Given the description of an element on the screen output the (x, y) to click on. 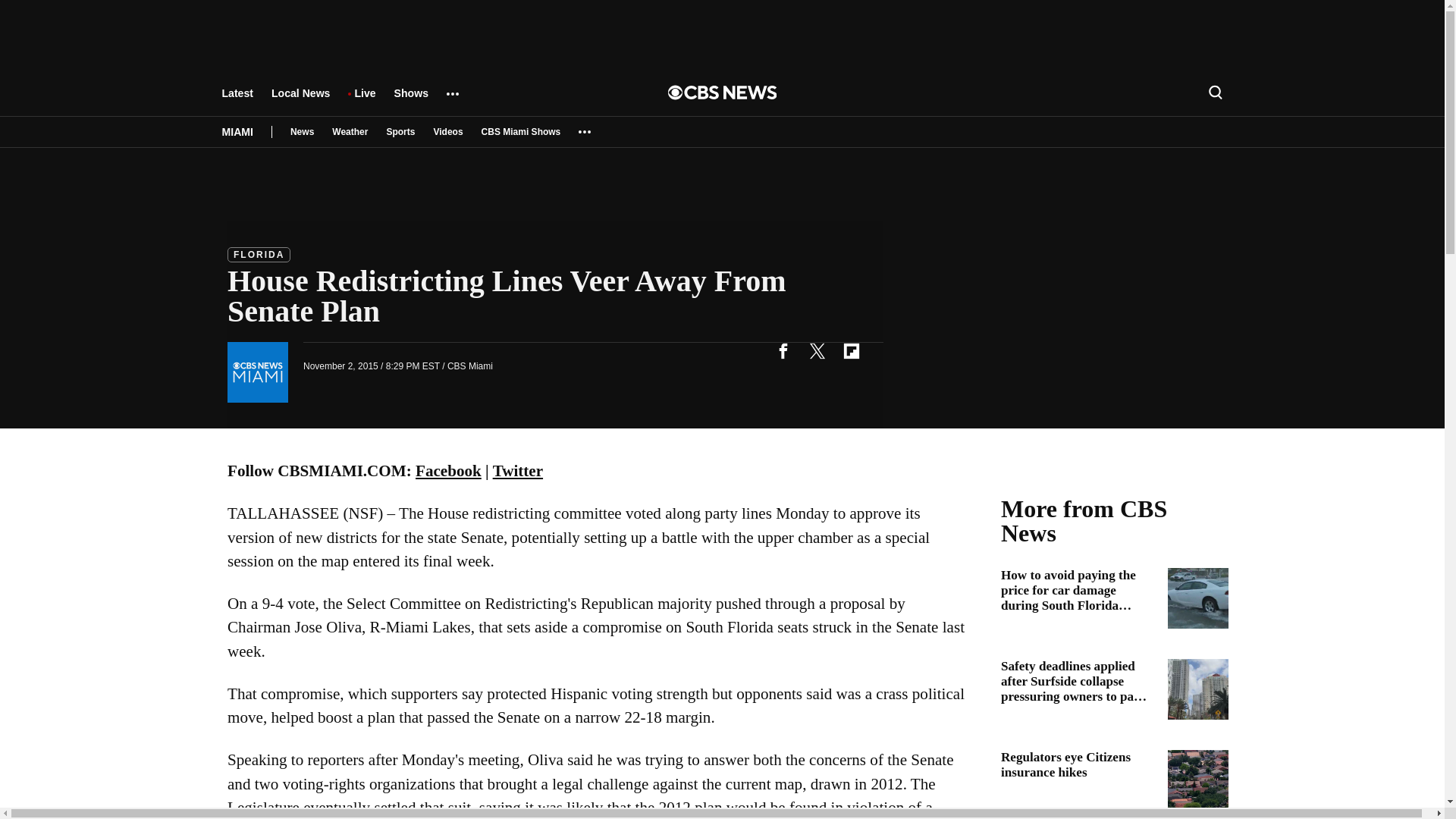
facebook (782, 350)
twitter (816, 350)
Latest (236, 100)
flipboard (850, 350)
Local News (300, 100)
